Given the description of an element on the screen output the (x, y) to click on. 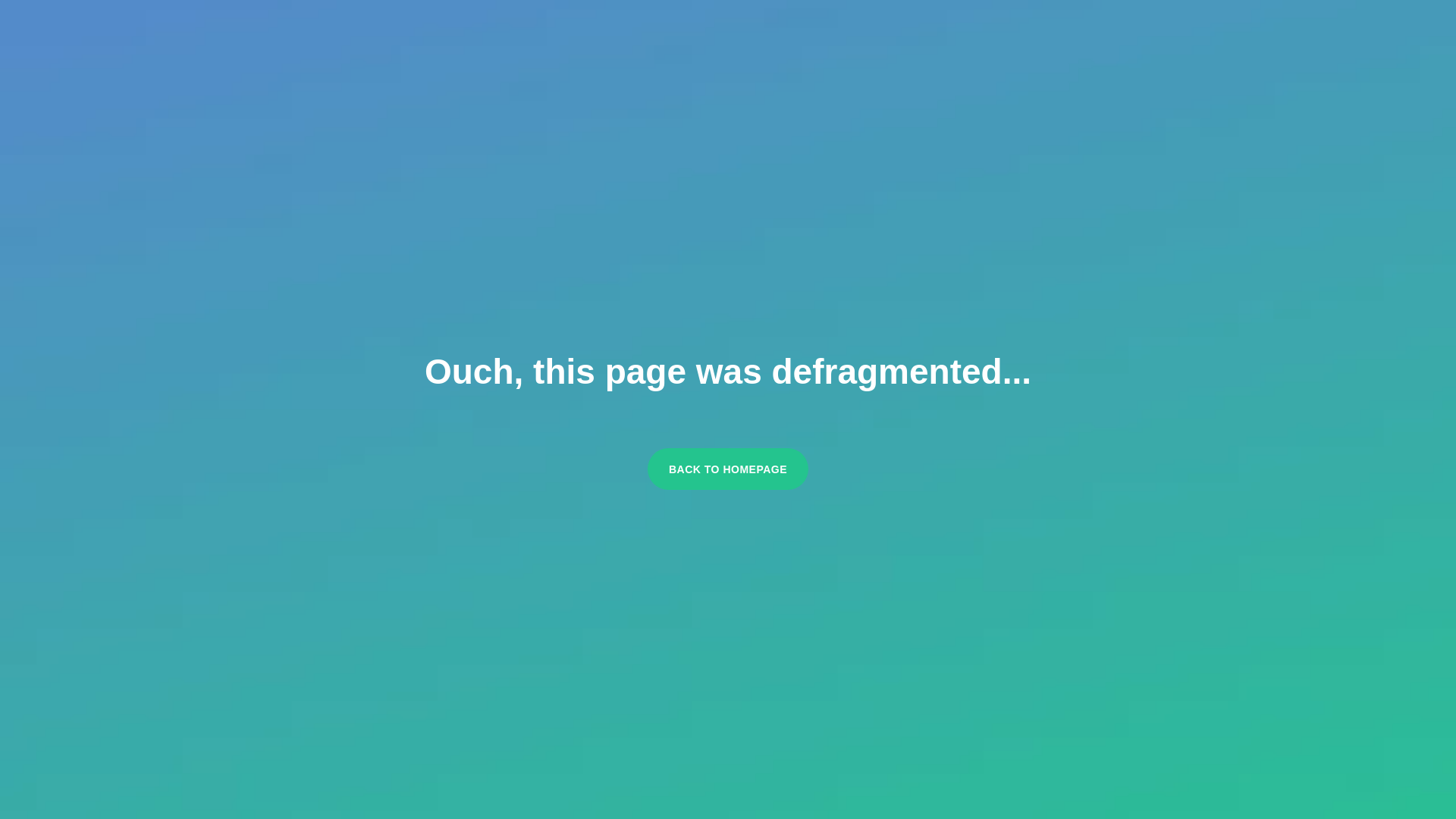
BACK TO HOMEPAGE Element type: text (727, 468)
